Given the description of an element on the screen output the (x, y) to click on. 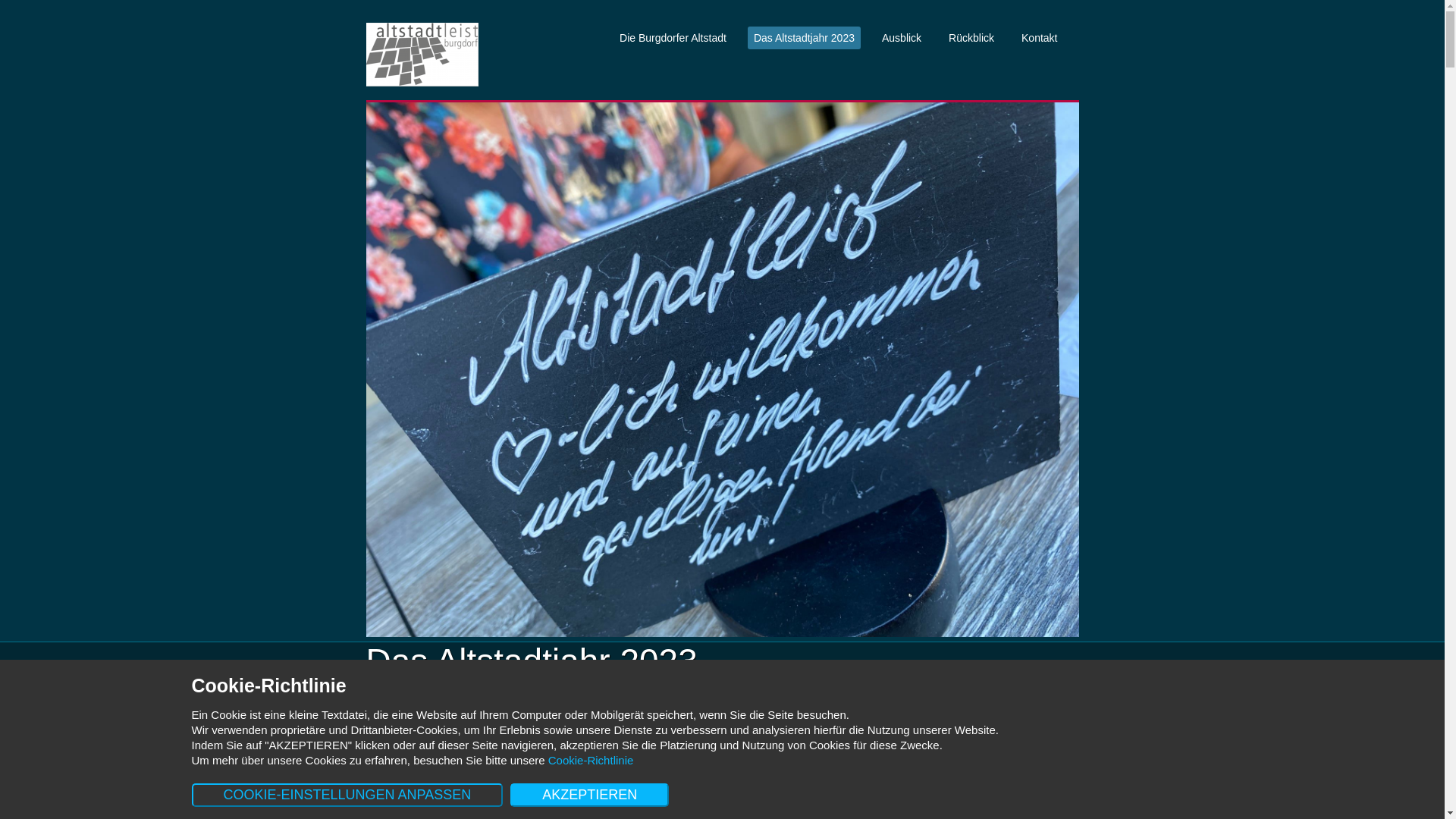
AKZEPTIEREN Element type: text (589, 794)
Die Burgdorfer Altstadt Element type: text (672, 37)
Kontakt Element type: text (1039, 37)
COOKIE-EINSTELLUNGEN ANPASSEN Element type: text (346, 794)
Das Altstadtjahr 2023 Element type: text (803, 37)
Cookie-Richtlinie Element type: text (590, 759)
Ausblick Element type: text (901, 37)
